Given the description of an element on the screen output the (x, y) to click on. 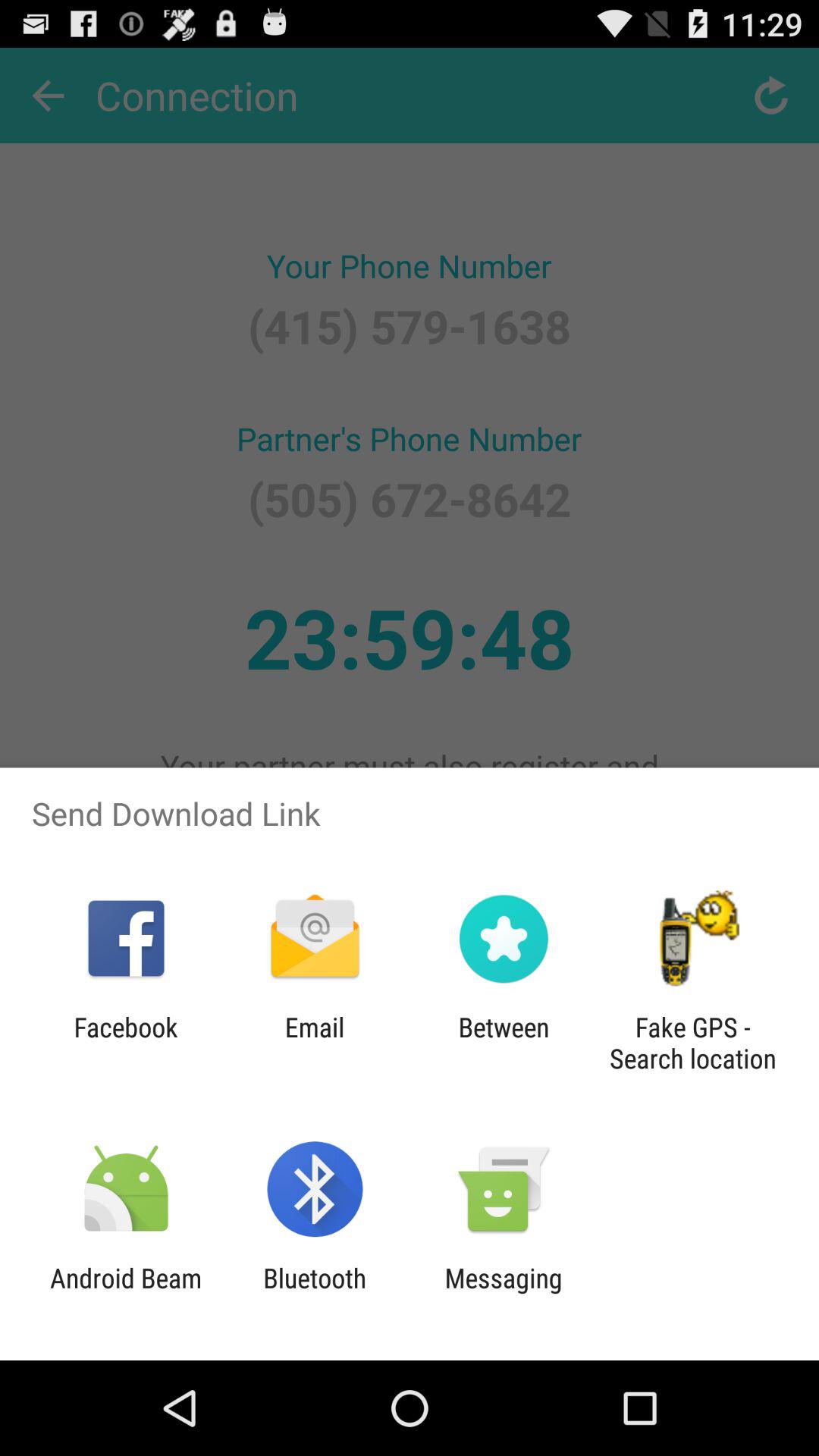
open the between (503, 1042)
